Given the description of an element on the screen output the (x, y) to click on. 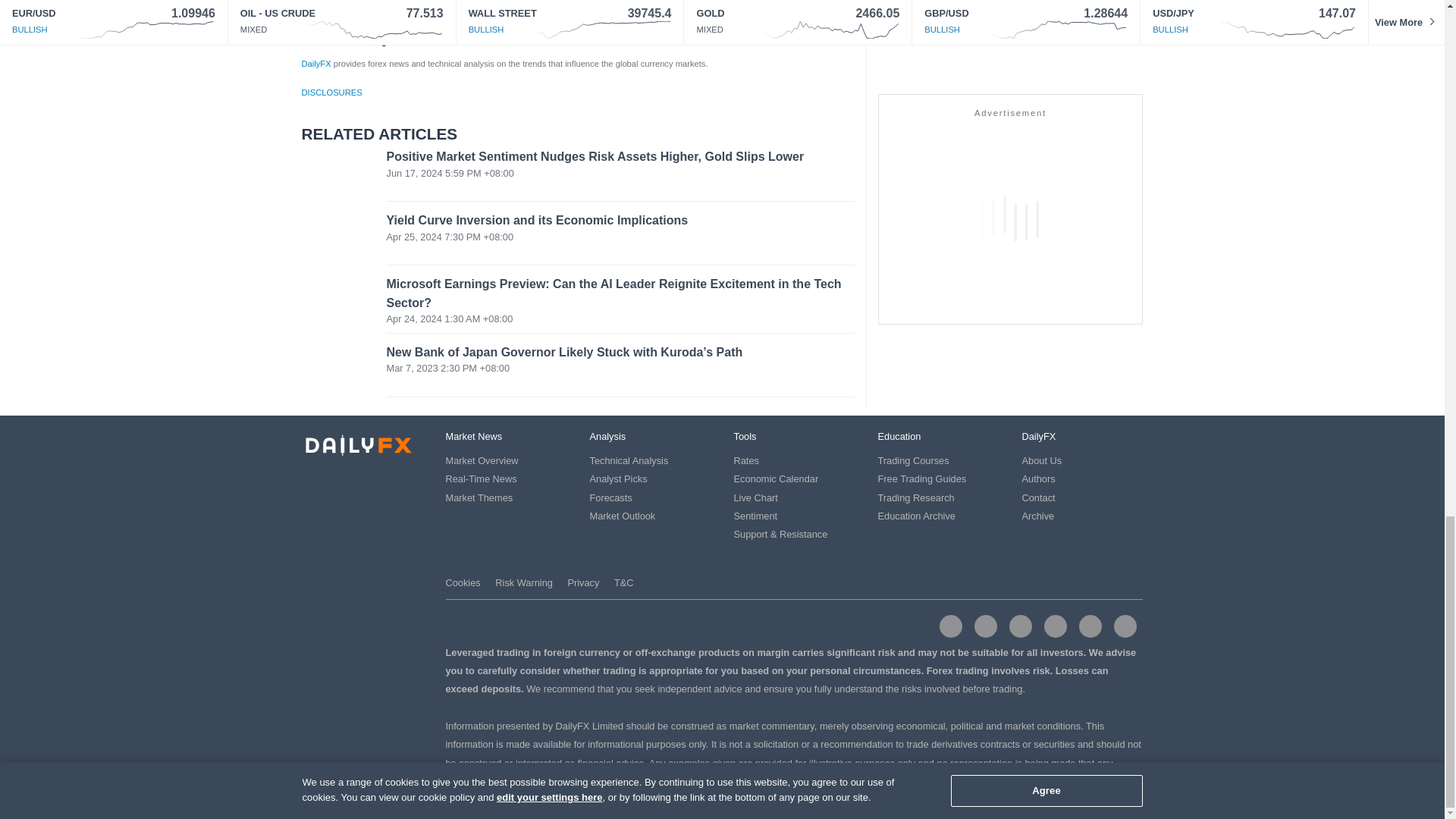
Market News (473, 436)
Market Overview (481, 460)
Sentiment (755, 515)
Analyst Picks (618, 478)
Forecasts (610, 497)
Real-Time News (480, 478)
Tools (745, 436)
Live Chart (755, 497)
Technical Analysis (628, 460)
Rates (745, 460)
